Given the description of an element on the screen output the (x, y) to click on. 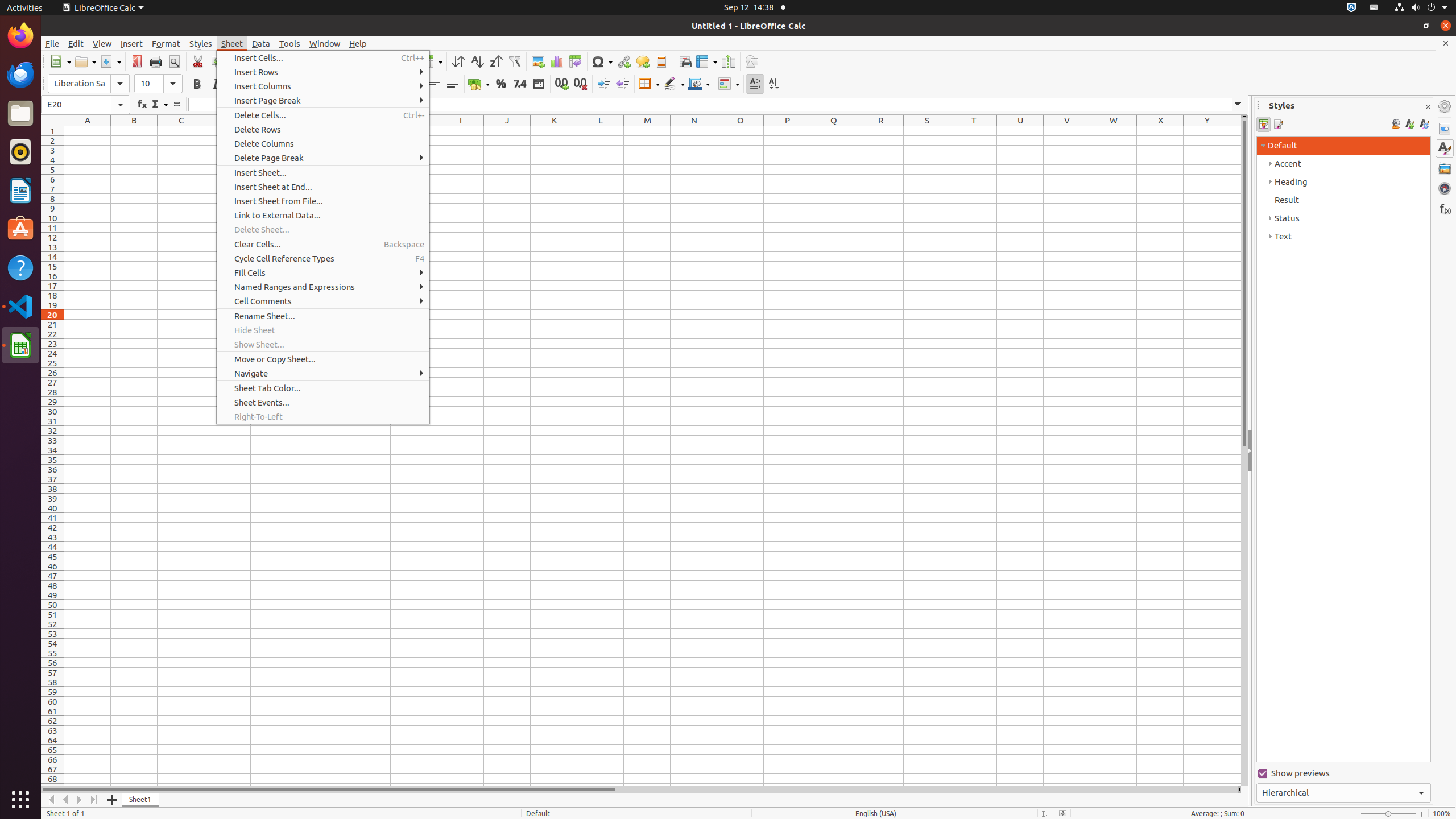
Delete Columns Element type: menu-item (322, 143)
Rename Sheet... Element type: menu-item (322, 315)
Styles Element type: radio-button (1444, 148)
Freeze Rows and Columns Element type: push-button (705, 61)
O1 Element type: table-cell (740, 130)
